Given the description of an element on the screen output the (x, y) to click on. 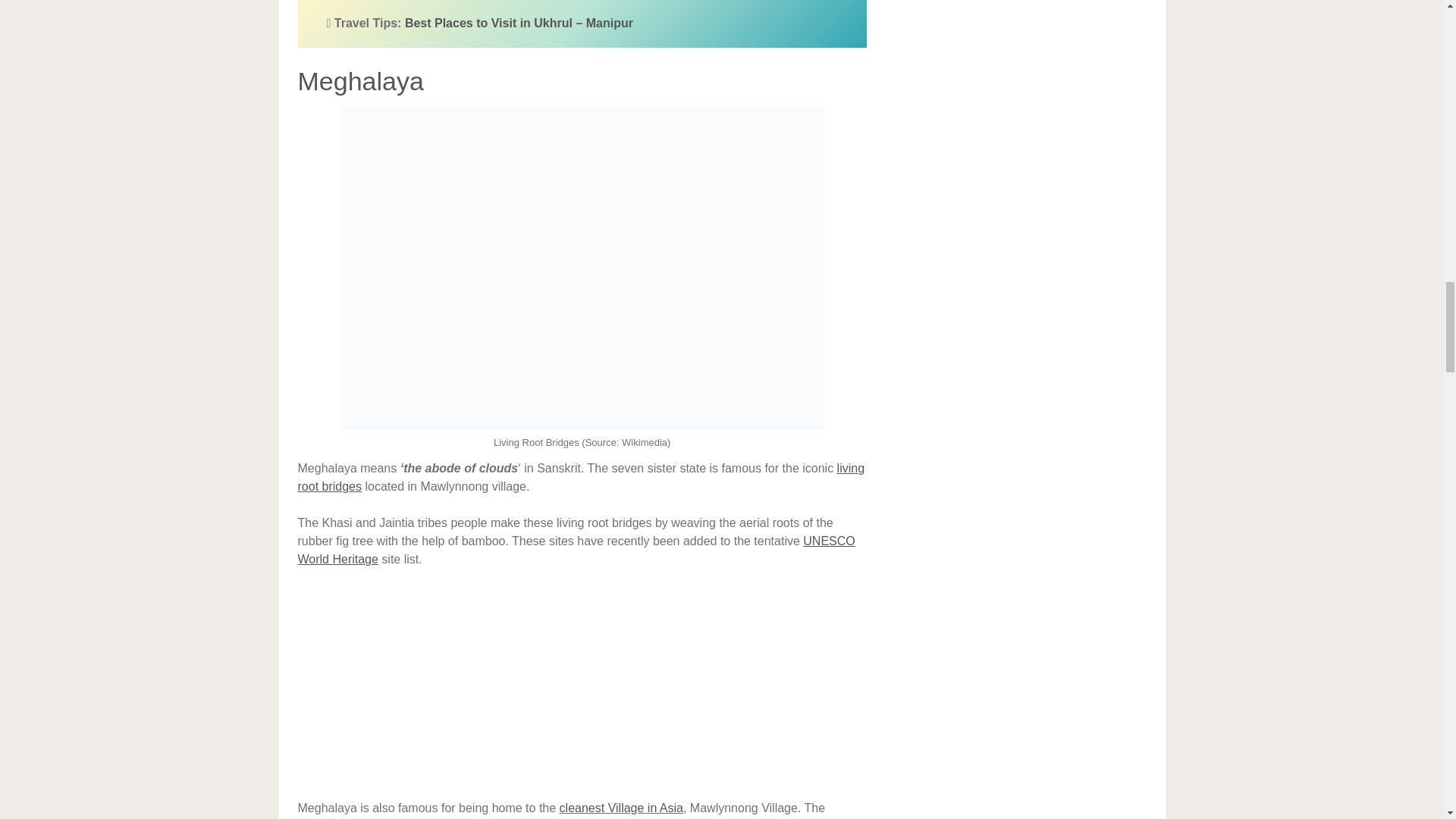
living root bridges (580, 477)
UNESCO World Heritage (575, 549)
cleanest Village in Asia (620, 807)
